Given the description of an element on the screen output the (x, y) to click on. 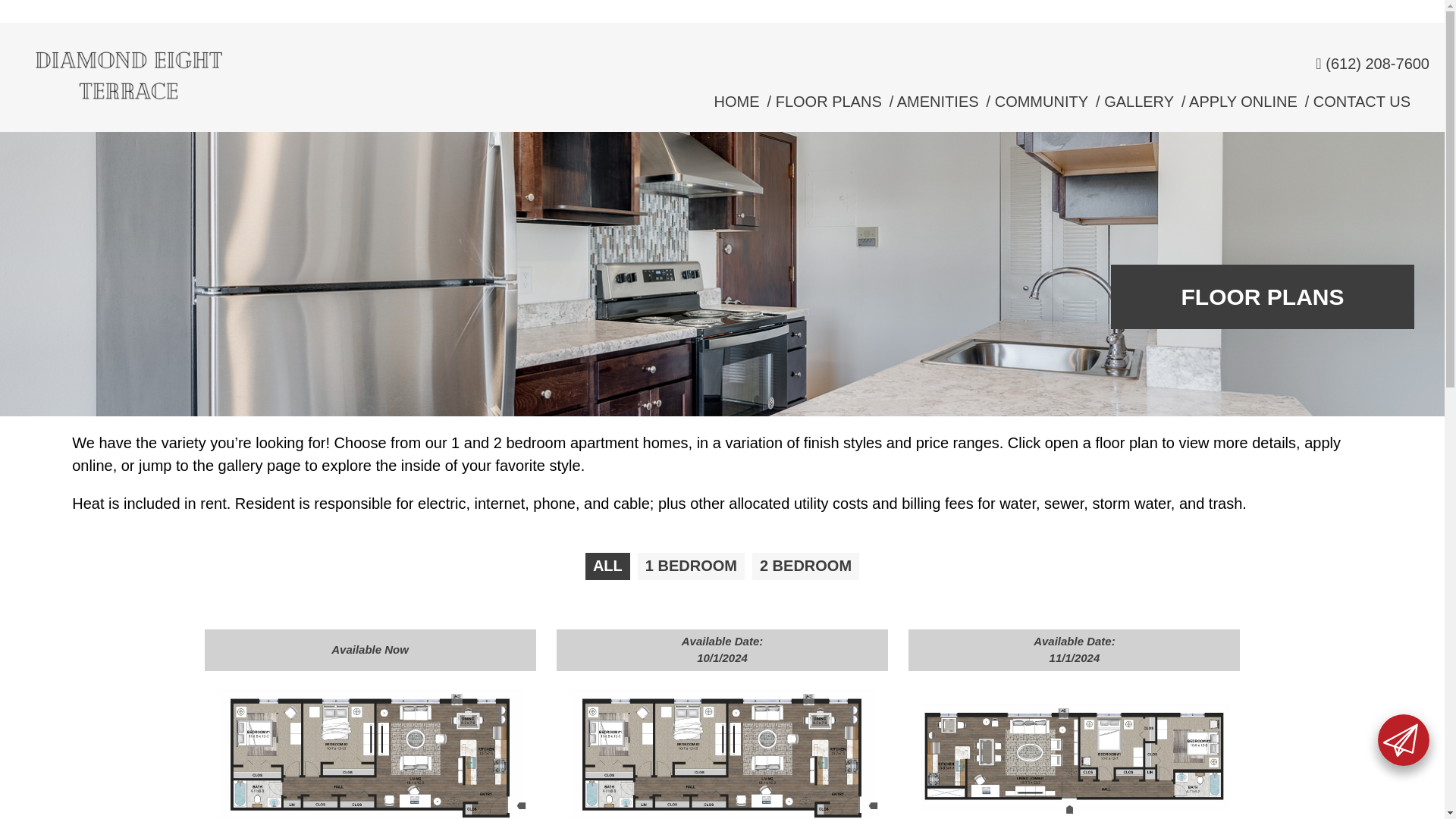
ALL (607, 565)
1 BEDROOM (690, 565)
2 BEDROOM (805, 565)
HOME (737, 101)
